Given the description of an element on the screen output the (x, y) to click on. 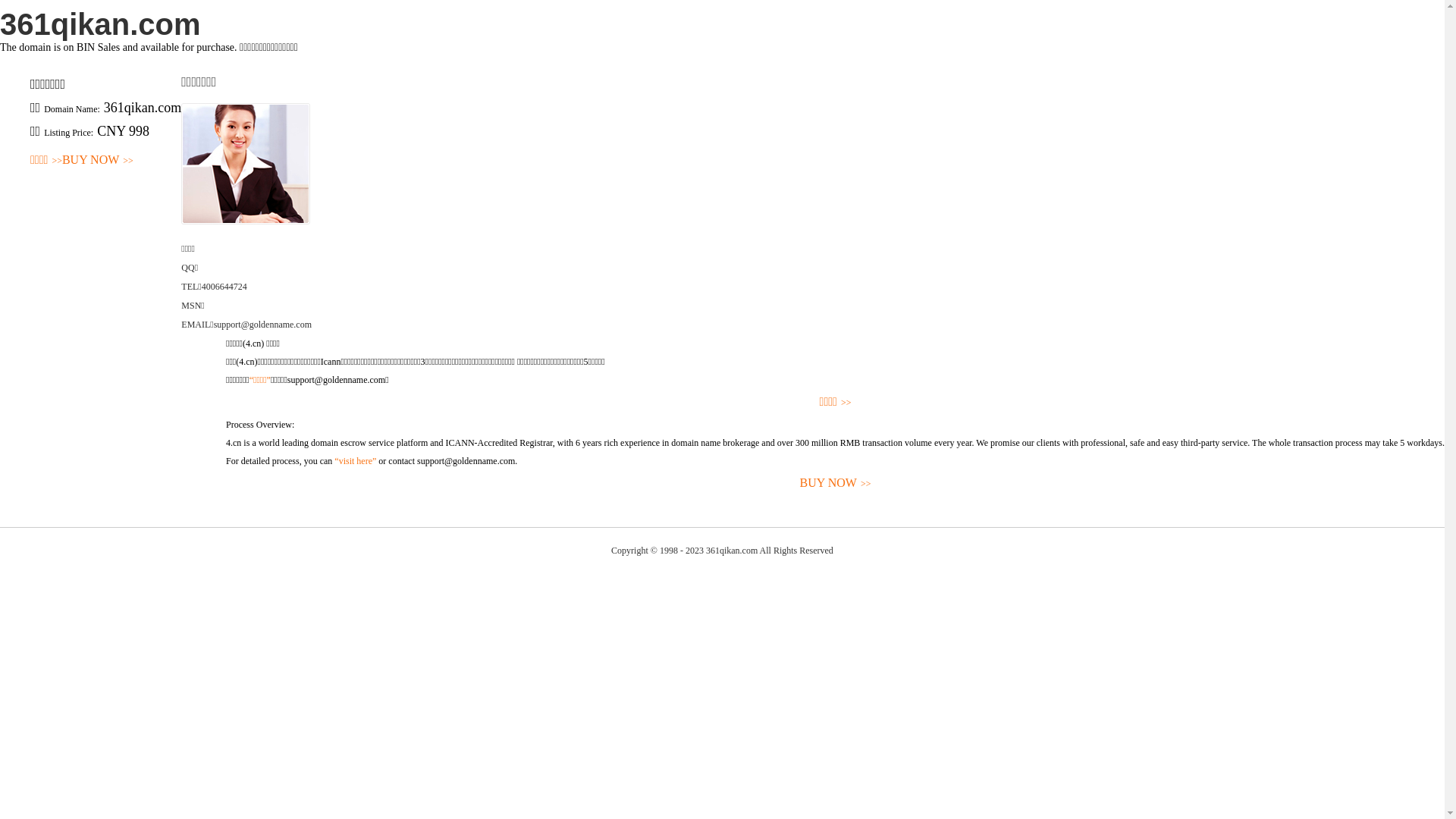
BUY NOW>> Element type: text (97, 160)
BUY NOW>> Element type: text (834, 483)
